Given the description of an element on the screen output the (x, y) to click on. 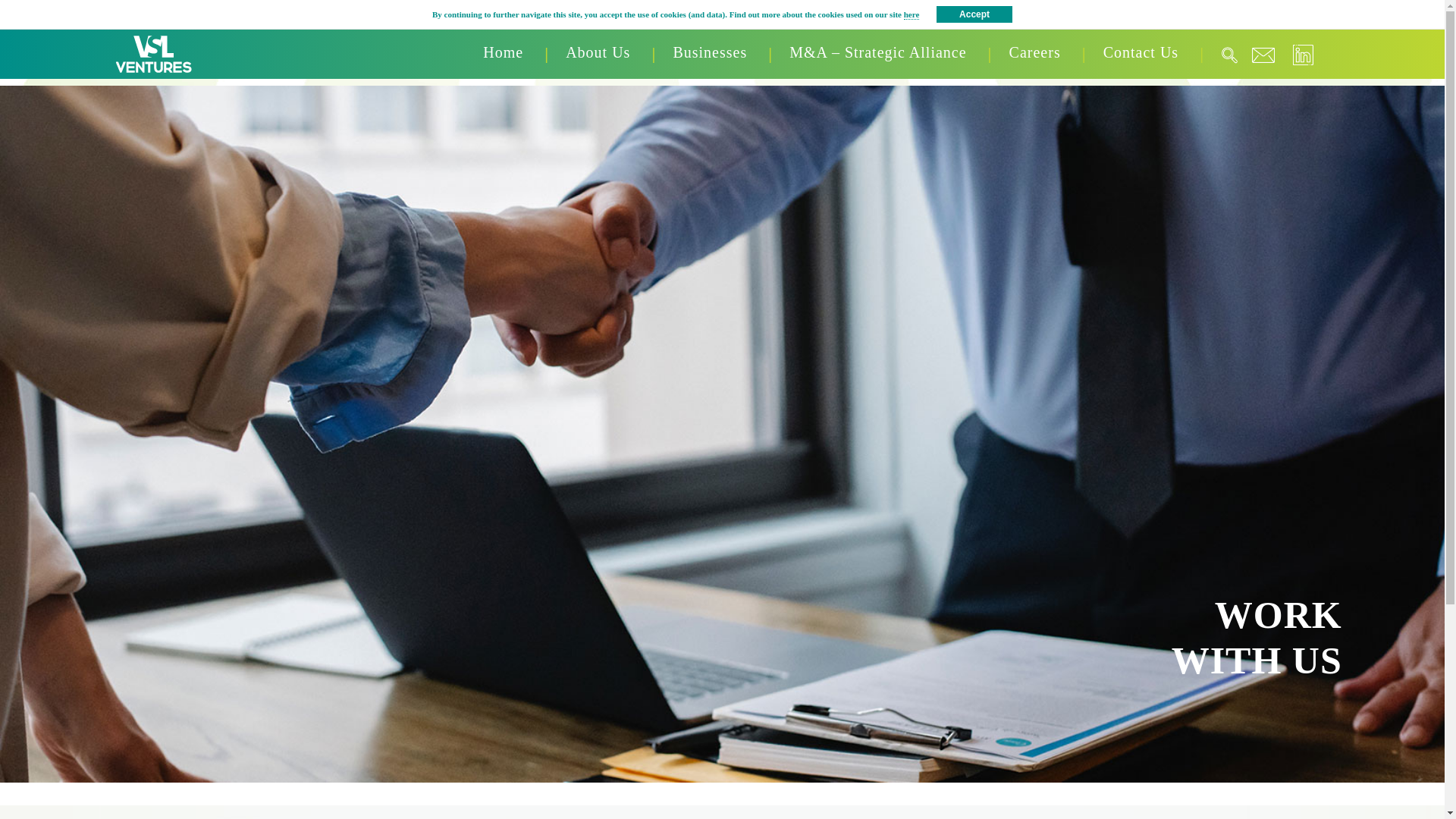
VSL Ventures (154, 53)
About Us (597, 51)
Linkedin (1302, 54)
Home (503, 51)
VSL Ventures -  (153, 53)
Businesses (709, 51)
Mail (1262, 54)
